Given the description of an element on the screen output the (x, y) to click on. 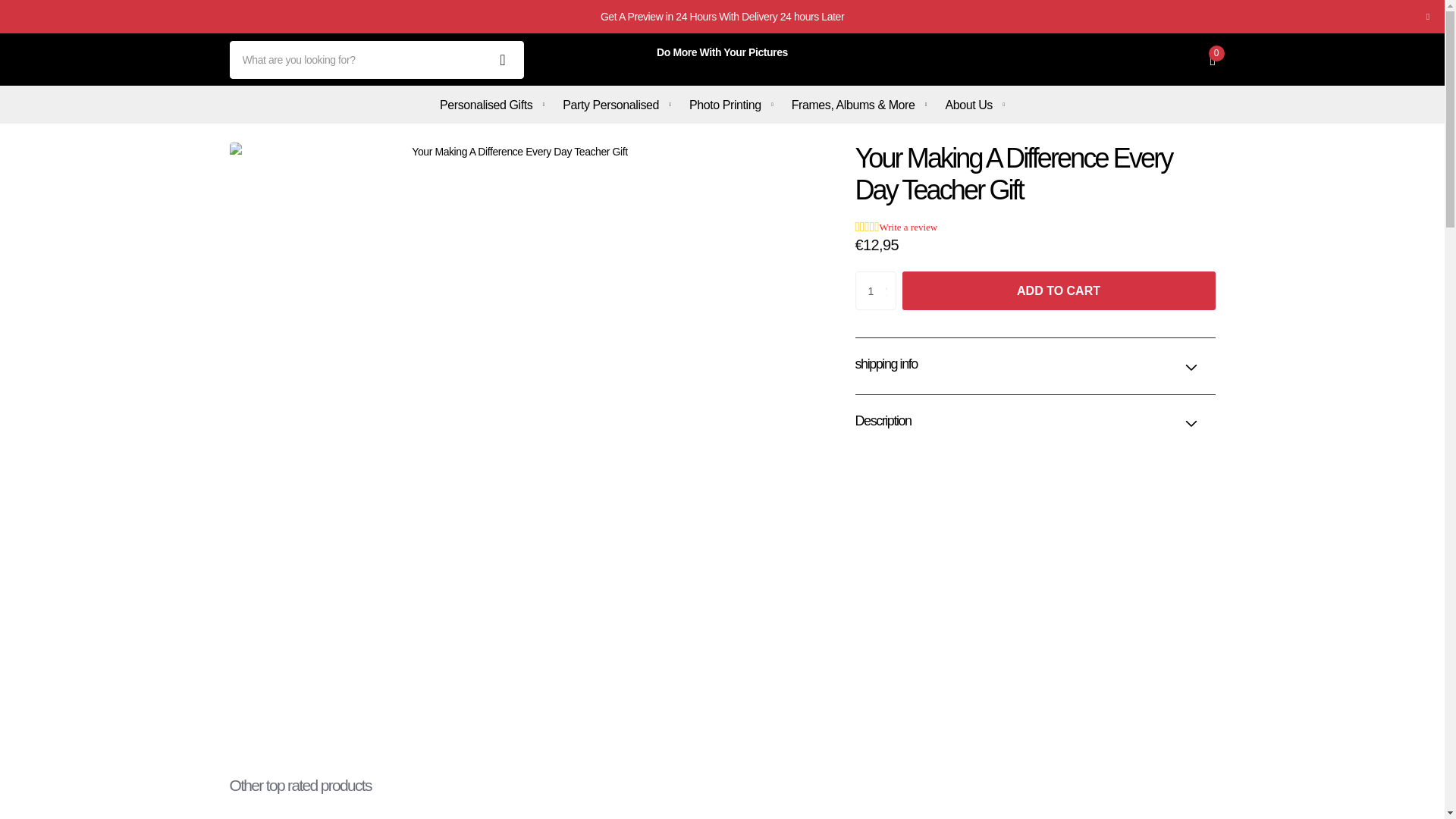
Close (1427, 16)
ZOEKEN (502, 59)
Personalised Gifts (491, 104)
1 (876, 290)
